Given the description of an element on the screen output the (x, y) to click on. 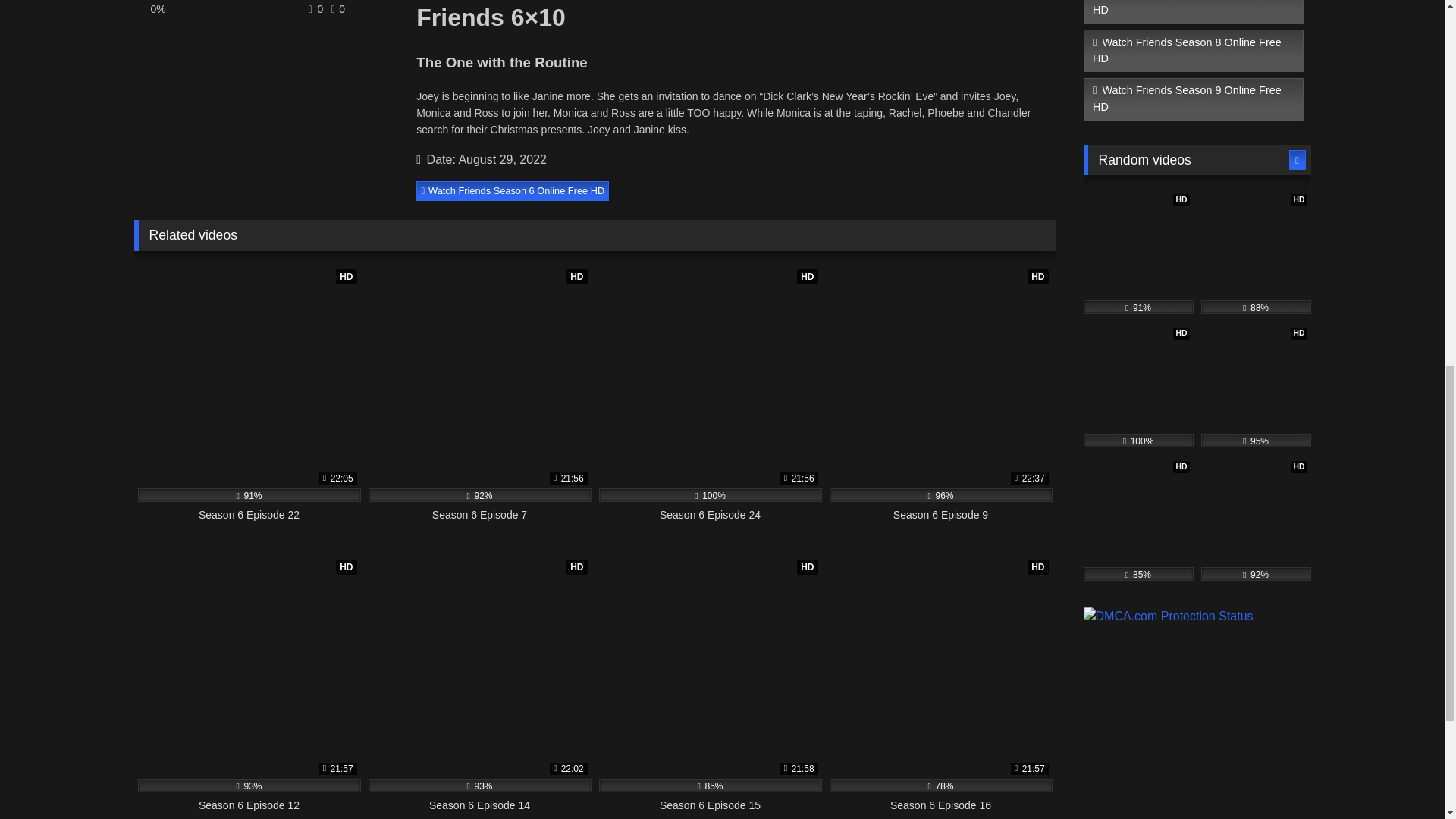
Watch Friends Season 6 Online Free HD (512, 190)
Season 4 Episode 3 (1256, 385)
Season 5 Episode 7 (1137, 518)
Watch Friends Season 9 Online Free HD (1193, 99)
Watch Friends Season 6 Online Free HD (512, 190)
Season 3 Episode 4 (1137, 385)
Watch Friends Season 8 Online Free HD (1193, 50)
Season 2 Episode 2 (1256, 251)
DMCA.com Protection Status (1167, 615)
Watch Friends Season 7 Online Free HD (1193, 12)
